Given the description of an element on the screen output the (x, y) to click on. 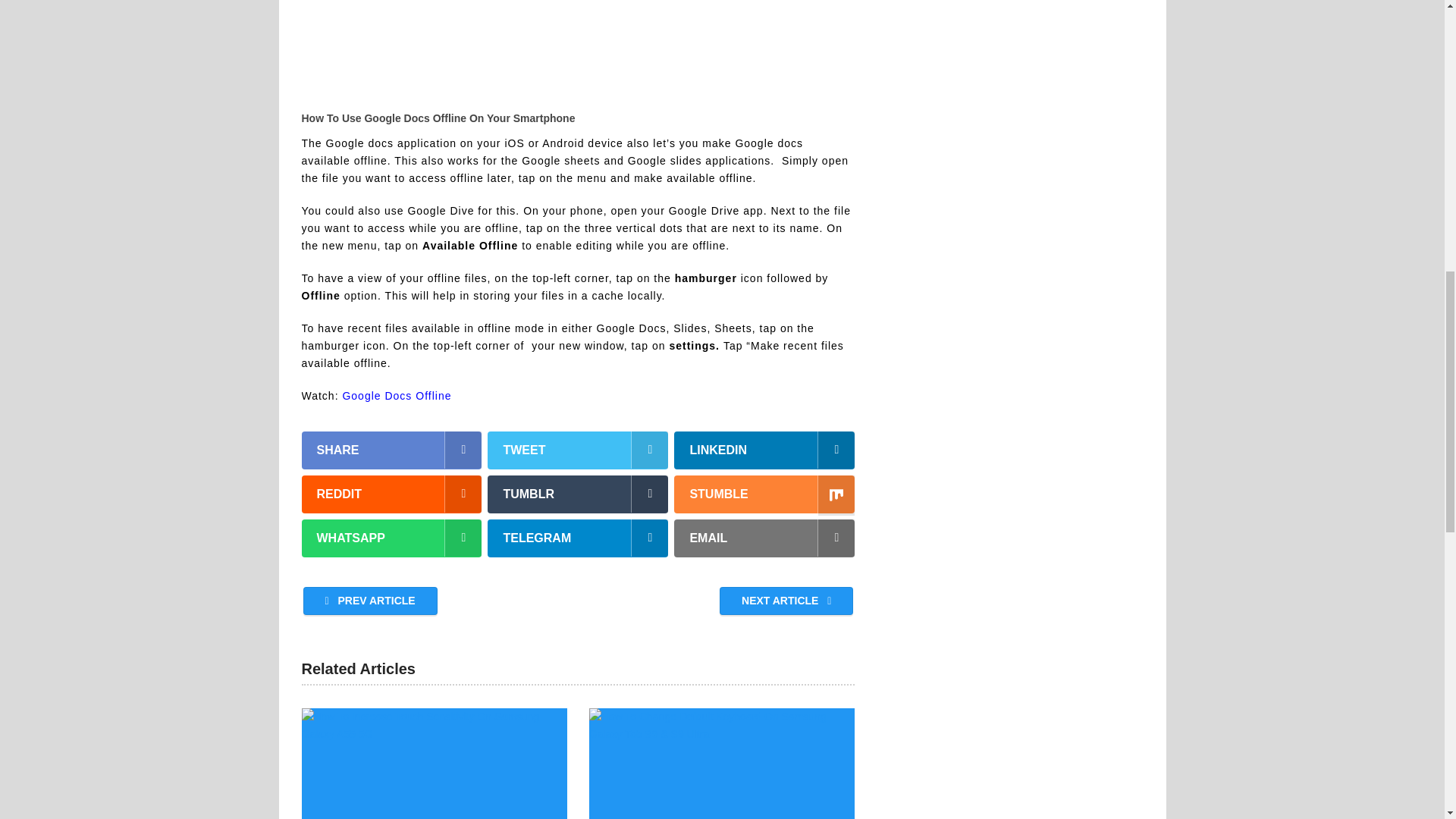
STUMBLE (764, 494)
REDDIT (391, 494)
How To Increase Touch Sensitivity On Samsung Galaxy A55 5G (434, 763)
Google Docs Offline (396, 395)
TWEET (577, 450)
WHATSAPP (391, 538)
PREV ARTICLE (370, 601)
NEXT ARTICLE (786, 601)
SHARE (391, 450)
LINKEDIN (764, 450)
TELEGRAM (577, 538)
EMAIL (764, 538)
TUMBLR (577, 494)
